Given the description of an element on the screen output the (x, y) to click on. 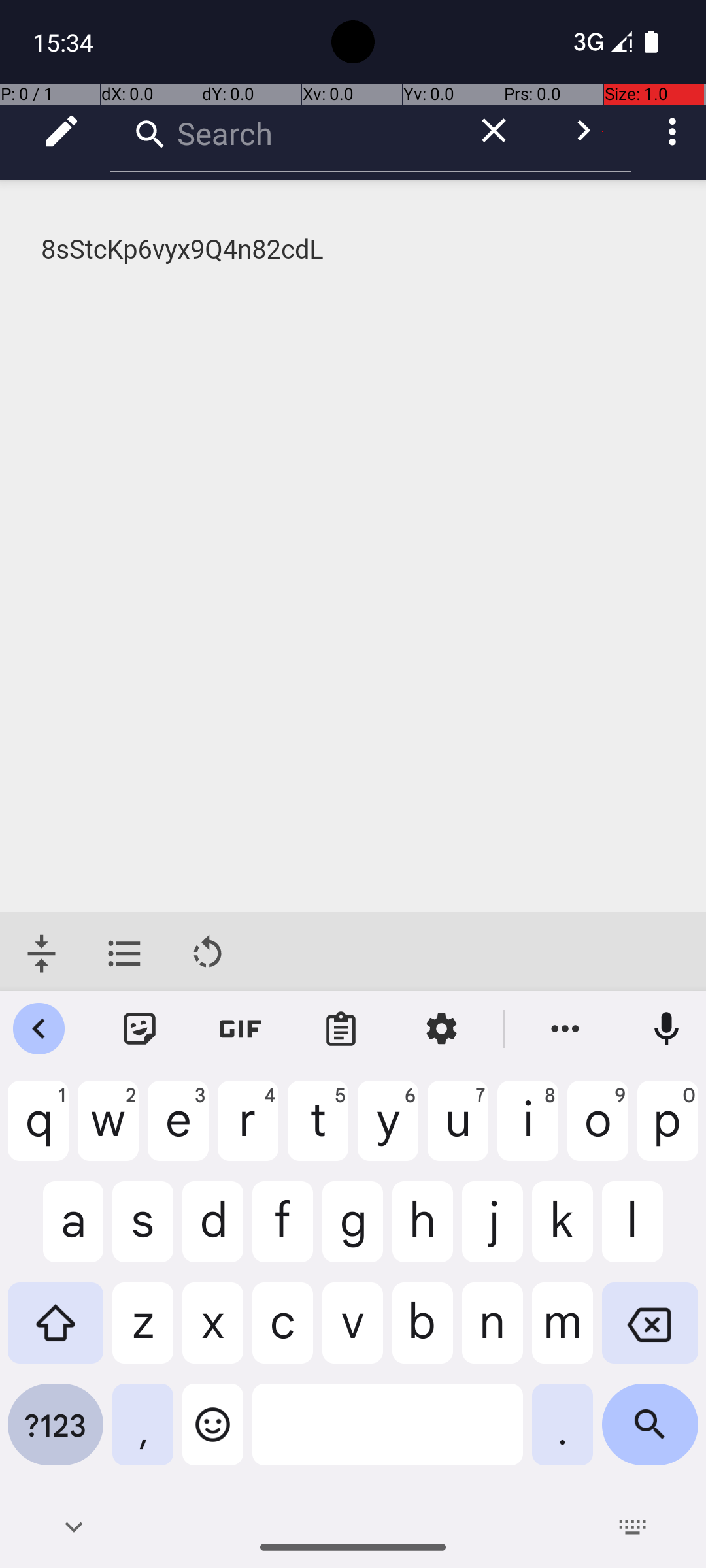
   Search Element type: android.widget.AutoCompleteTextView (280, 130)
Clear query Element type: android.widget.ImageView (493, 130)
Submit query Element type: android.widget.ImageView (583, 130)
Jump to bottom Element type: android.widget.ImageView (41, 953)
Rotate Element type: android.widget.ImageView (207, 953)
8sStcKp6vyx9Q4n82cdL Element type: android.widget.TextView (354, 249)
